Given the description of an element on the screen output the (x, y) to click on. 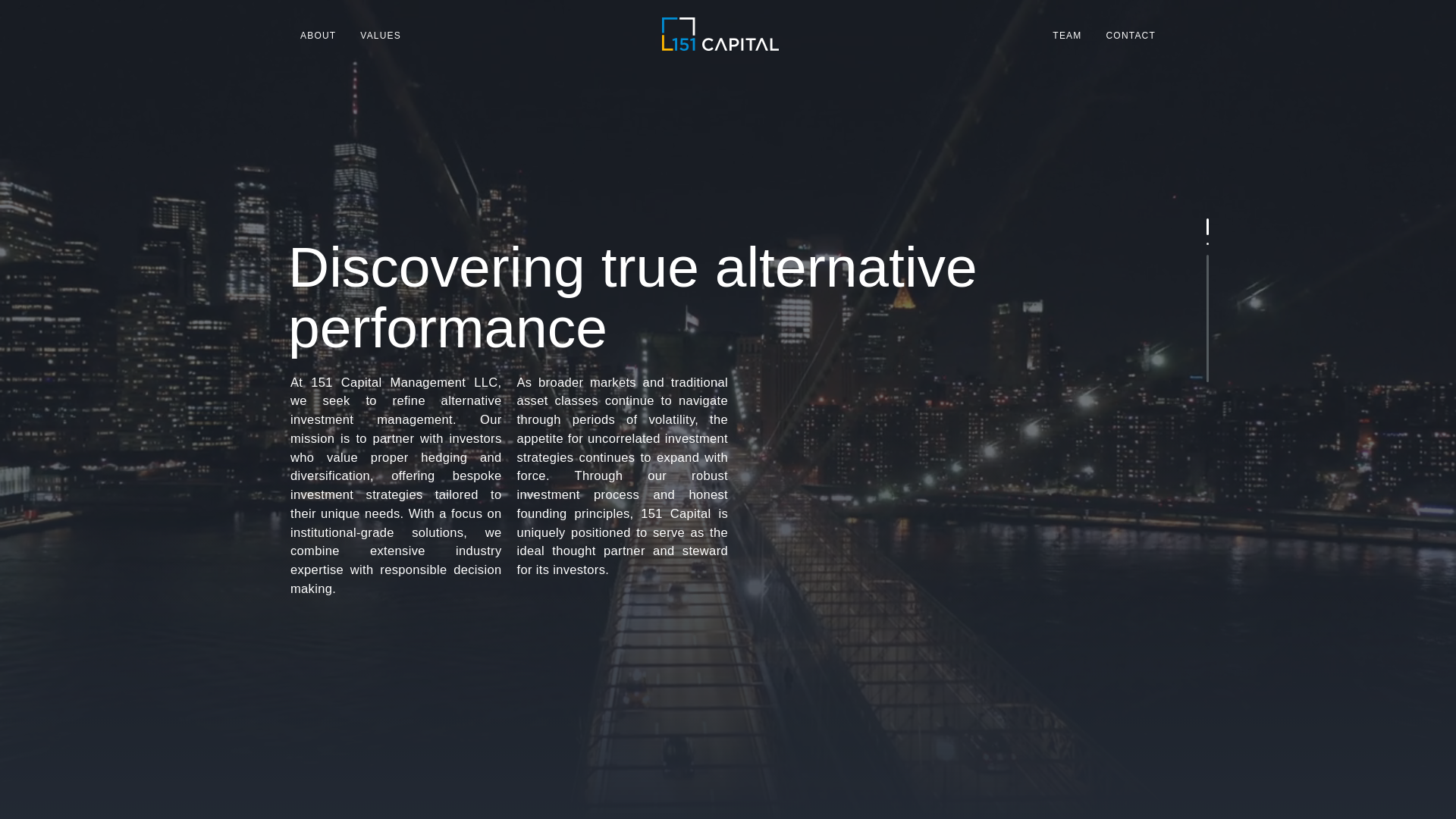
CONTACT Element type: text (1130, 34)
VALUES Element type: text (380, 34)
TEAM Element type: text (1066, 34)
ABOUT Element type: text (318, 34)
